Given the description of an element on the screen output the (x, y) to click on. 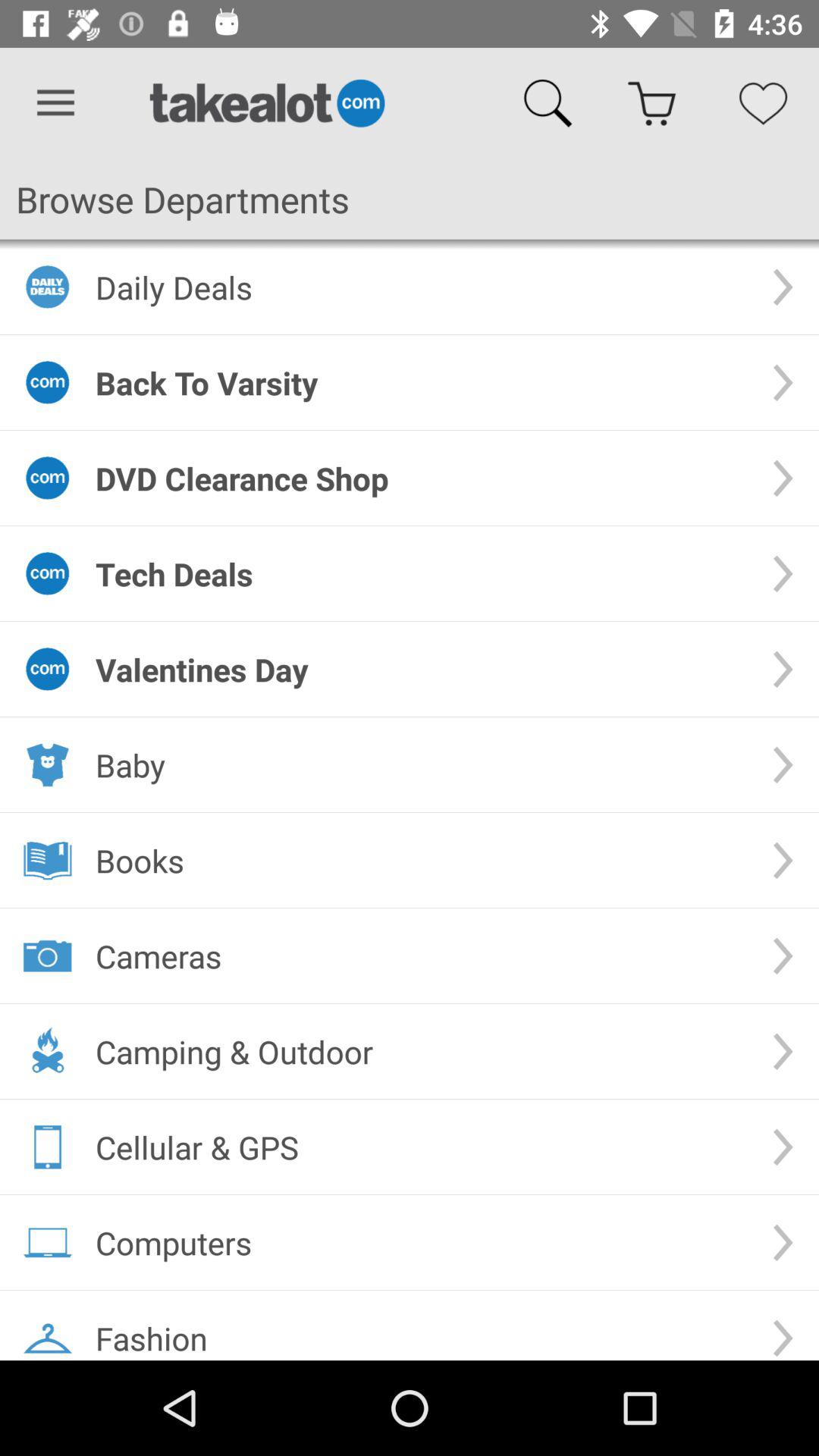
press cellular & gps icon (421, 1146)
